Given the description of an element on the screen output the (x, y) to click on. 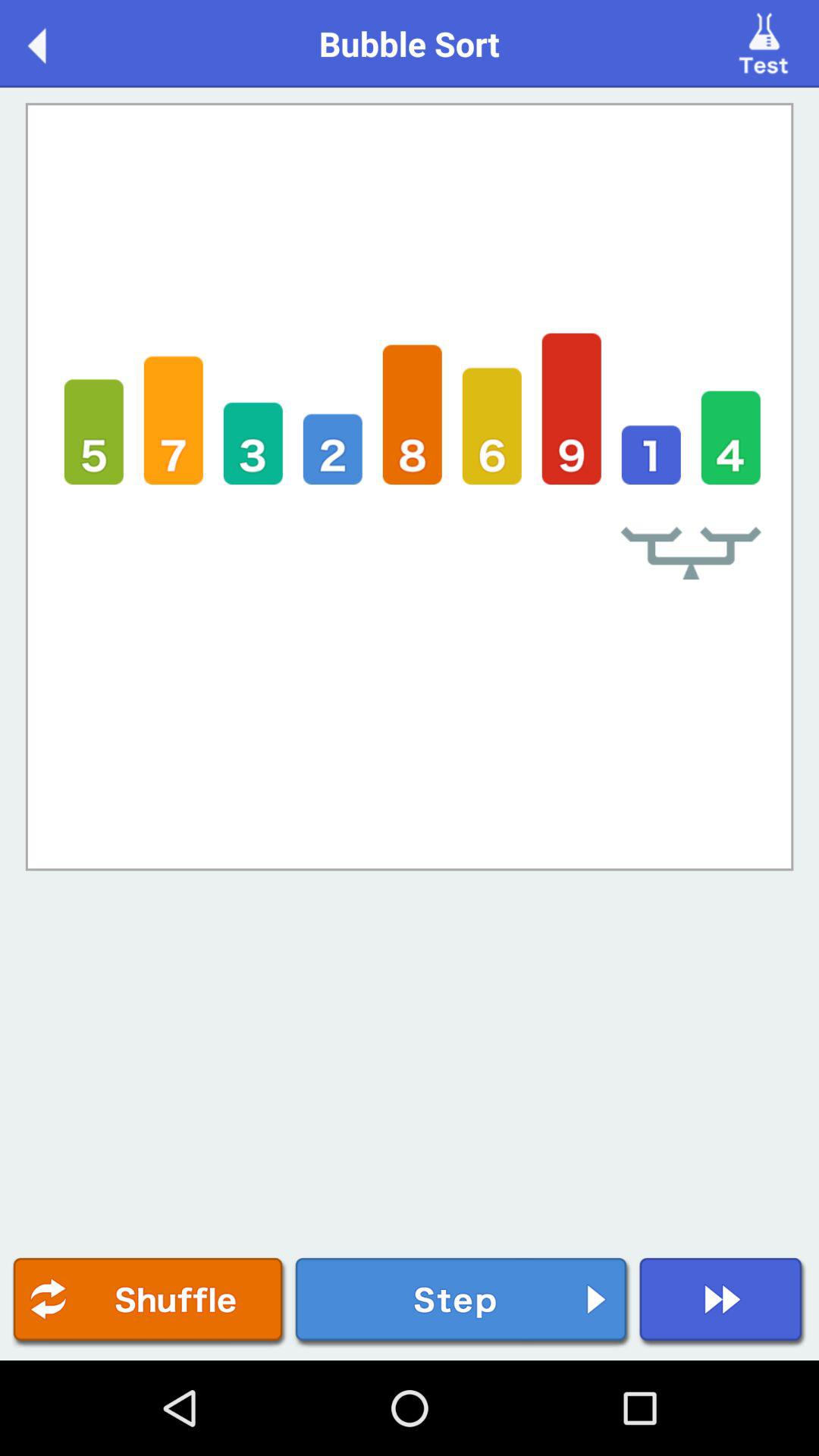
next option (722, 1302)
